Given the description of an element on the screen output the (x, y) to click on. 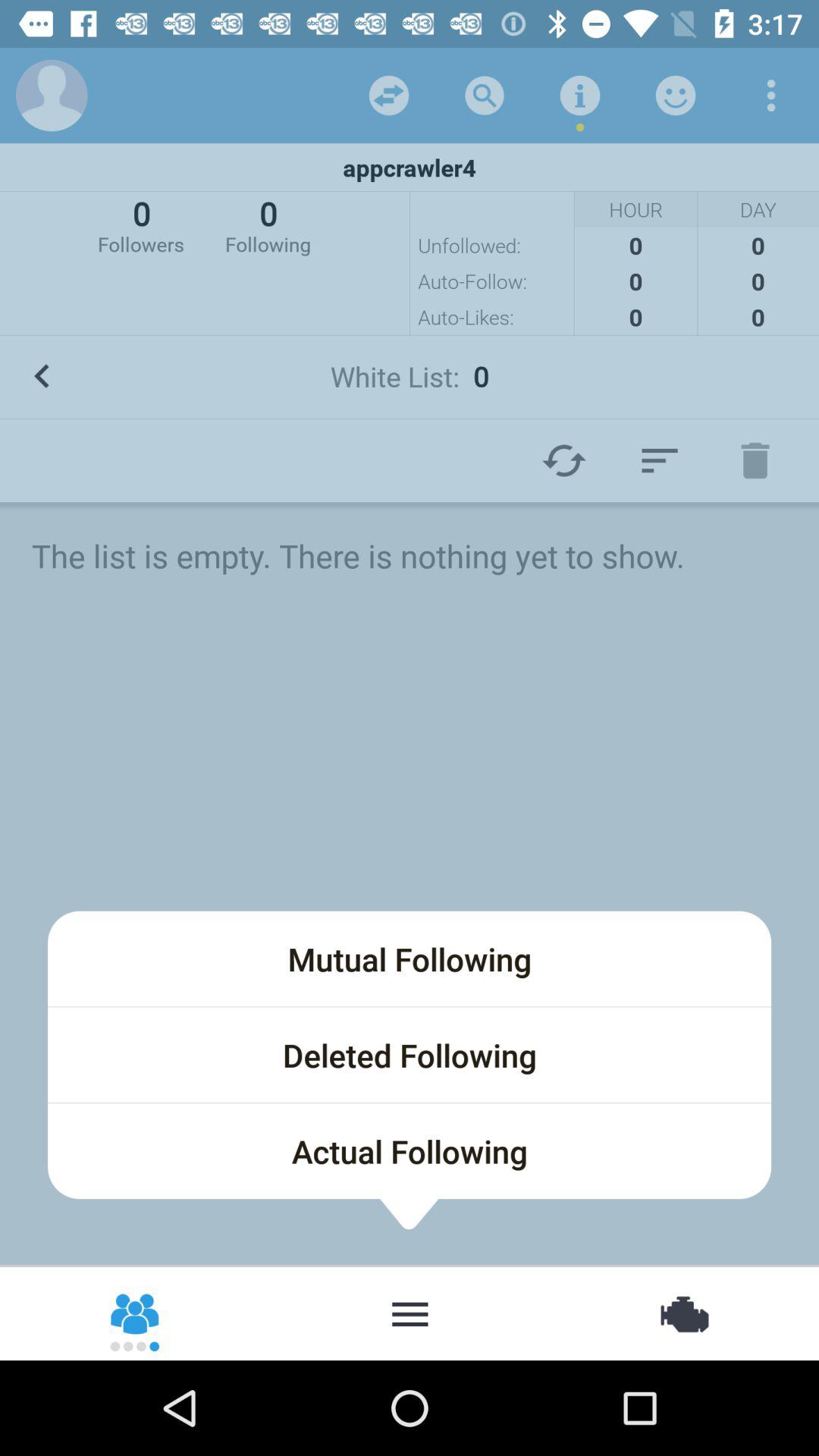
show following list (409, 1312)
